Given the description of an element on the screen output the (x, y) to click on. 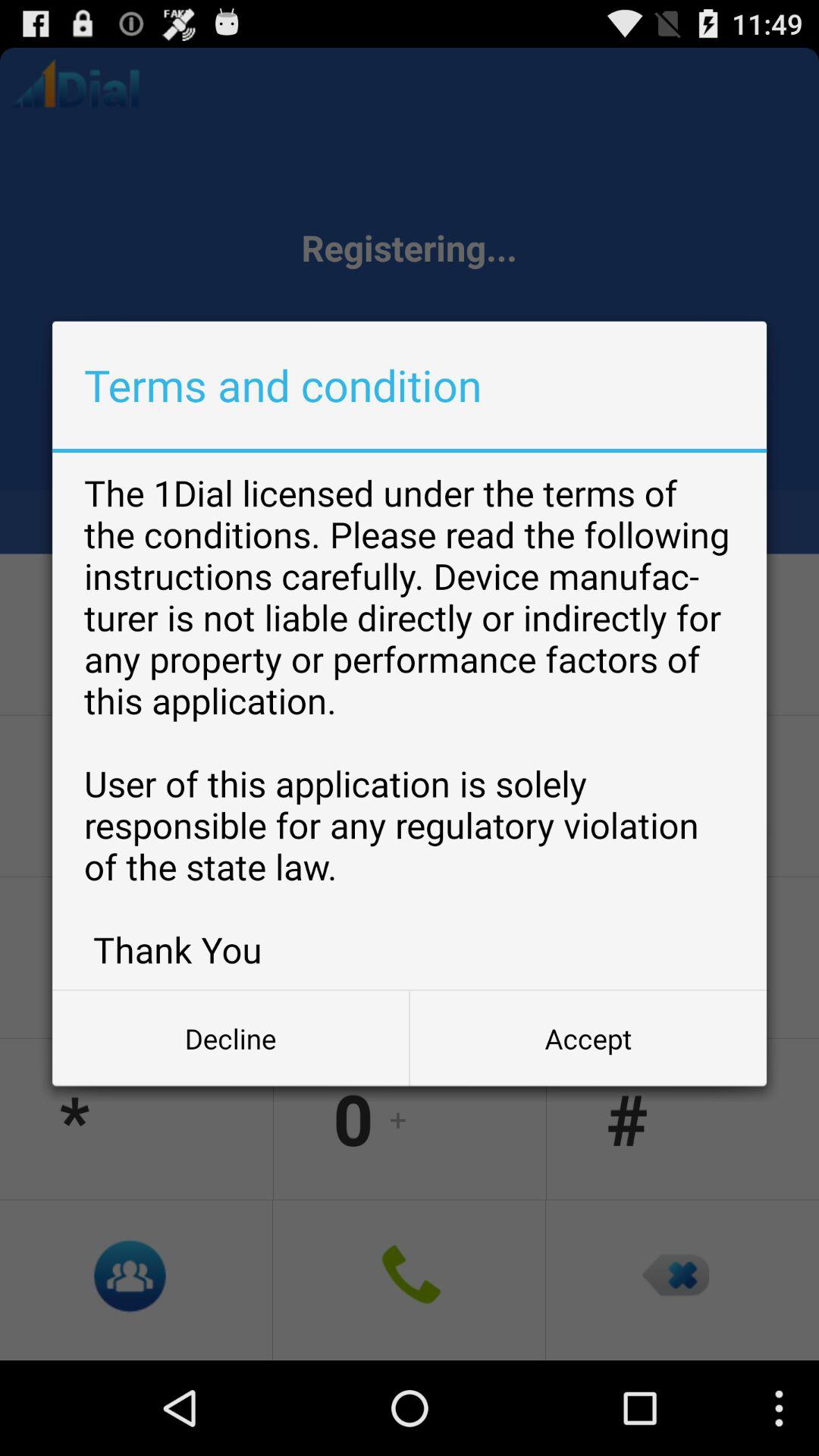
press button to the left of the accept button (230, 1038)
